Given the description of an element on the screen output the (x, y) to click on. 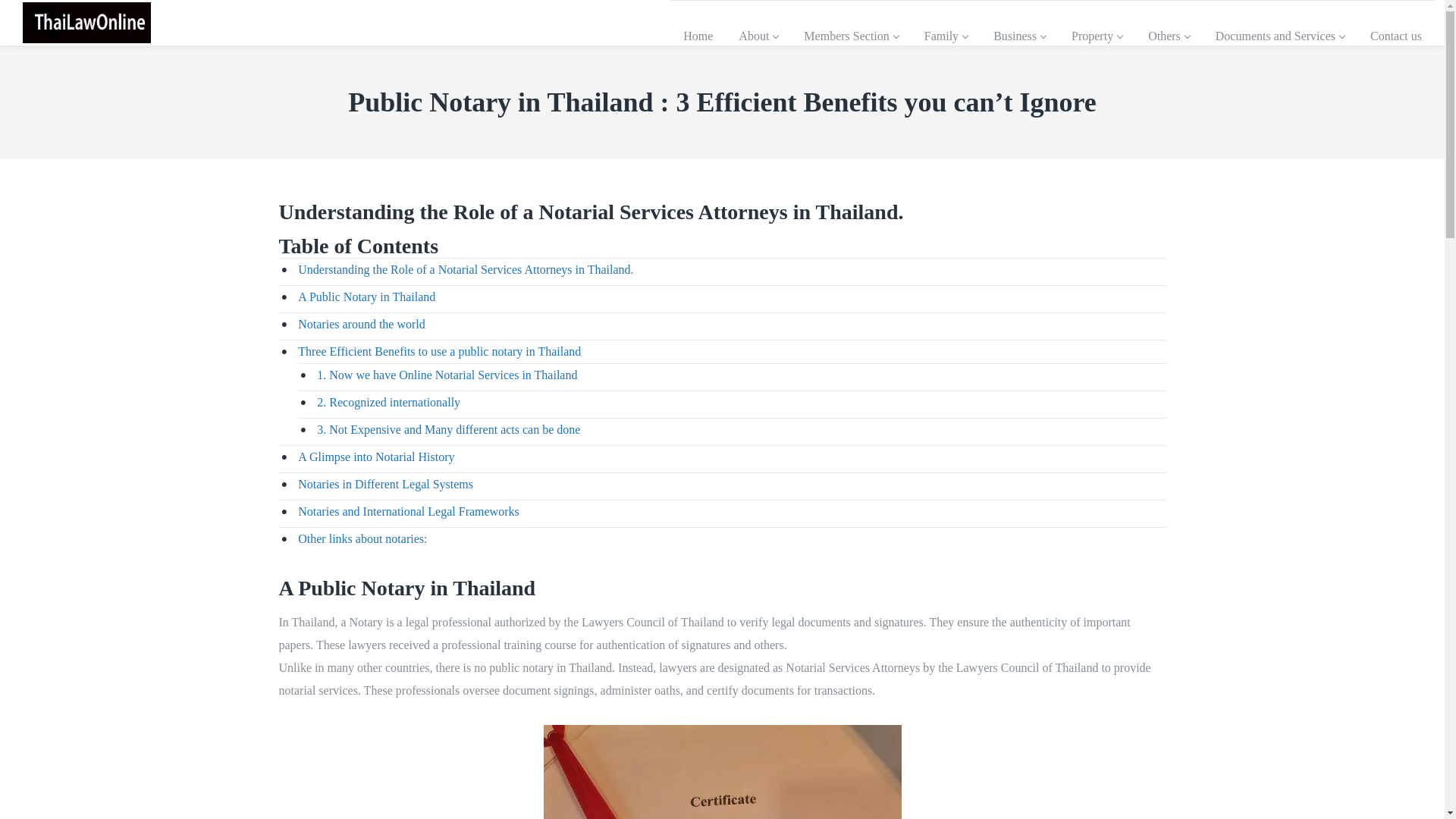
About (758, 36)
Members Section (850, 36)
Home (698, 36)
Family (945, 36)
